Given the description of an element on the screen output the (x, y) to click on. 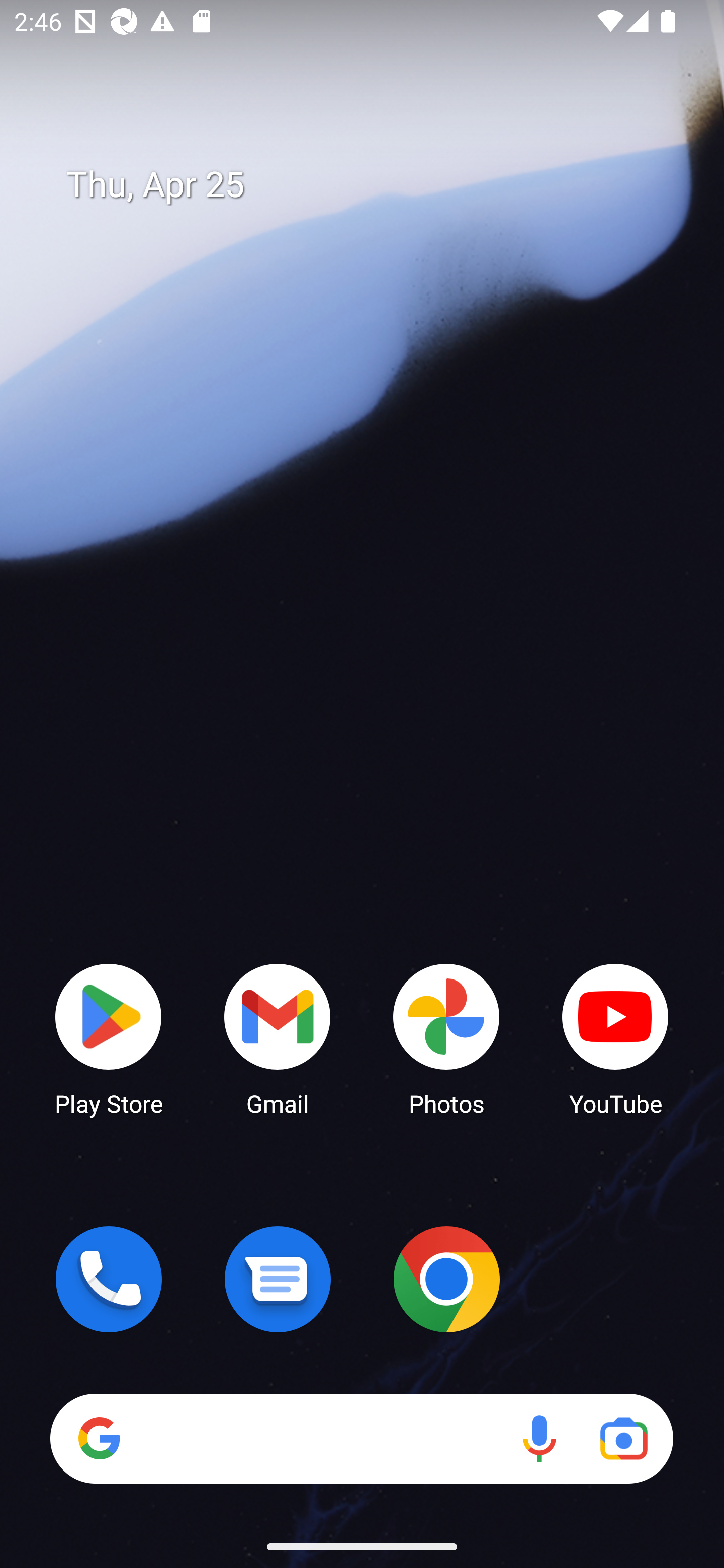
Thu, Apr 25 (375, 184)
Play Store (108, 1038)
Gmail (277, 1038)
Photos (445, 1038)
YouTube (615, 1038)
Phone (108, 1279)
Messages (277, 1279)
Chrome (446, 1279)
Search Voice search Google Lens (361, 1438)
Voice search (539, 1438)
Google Lens (623, 1438)
